Given the description of an element on the screen output the (x, y) to click on. 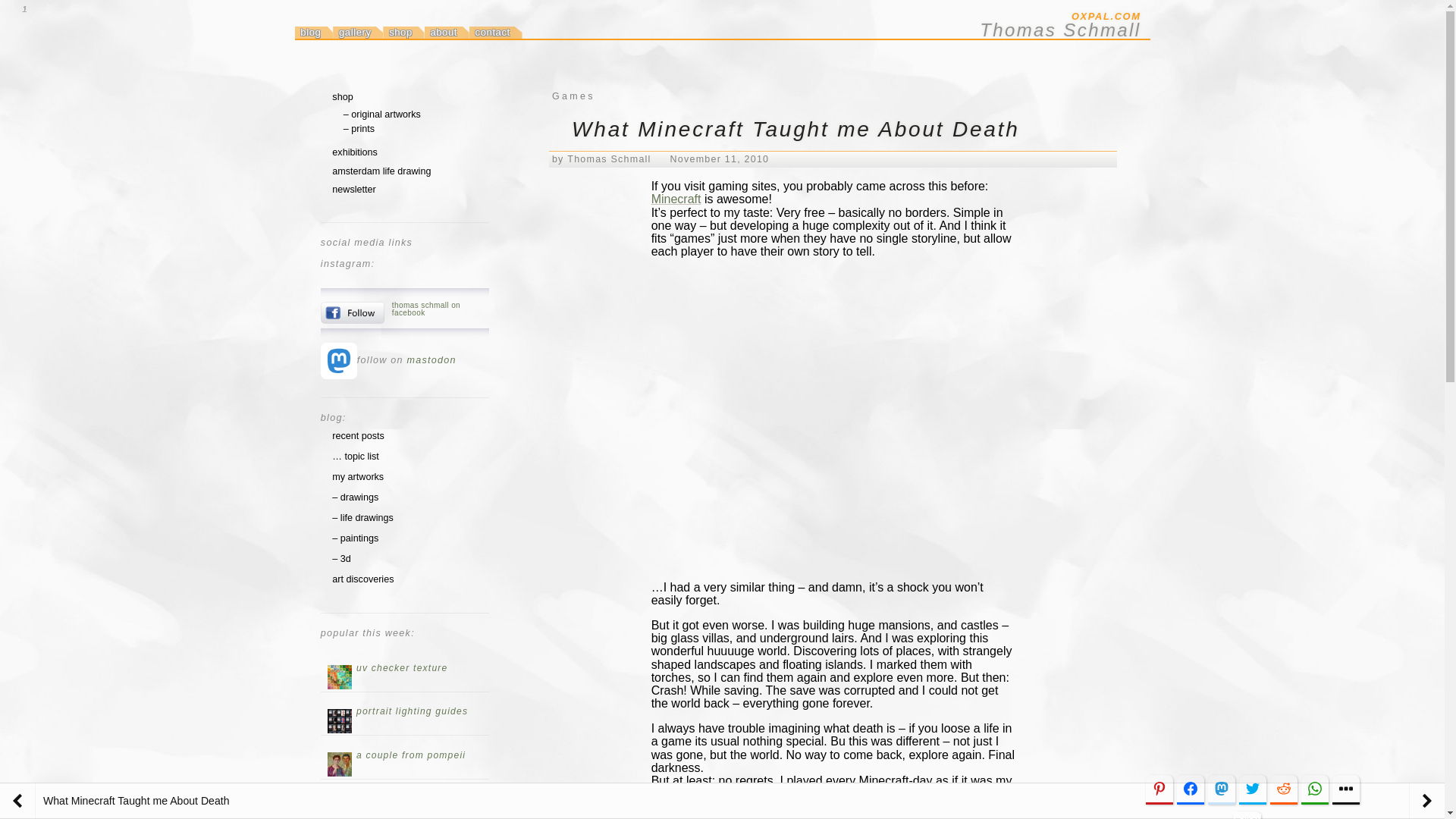
contact (495, 32)
blog (313, 32)
shop (341, 96)
OXPAL.COM (1001, 16)
Games (573, 95)
Buy prints or original artworks (341, 96)
Prints of Artworks to Buy (358, 128)
art discoveries (362, 579)
Blog Posts with Drawings (354, 497)
List Recent Blog Posts (357, 435)
thomas schmall on facebook (440, 312)
about (446, 32)
amsterdam life drawing (380, 171)
shop (402, 32)
my artworks (357, 476)
